Given the description of an element on the screen output the (x, y) to click on. 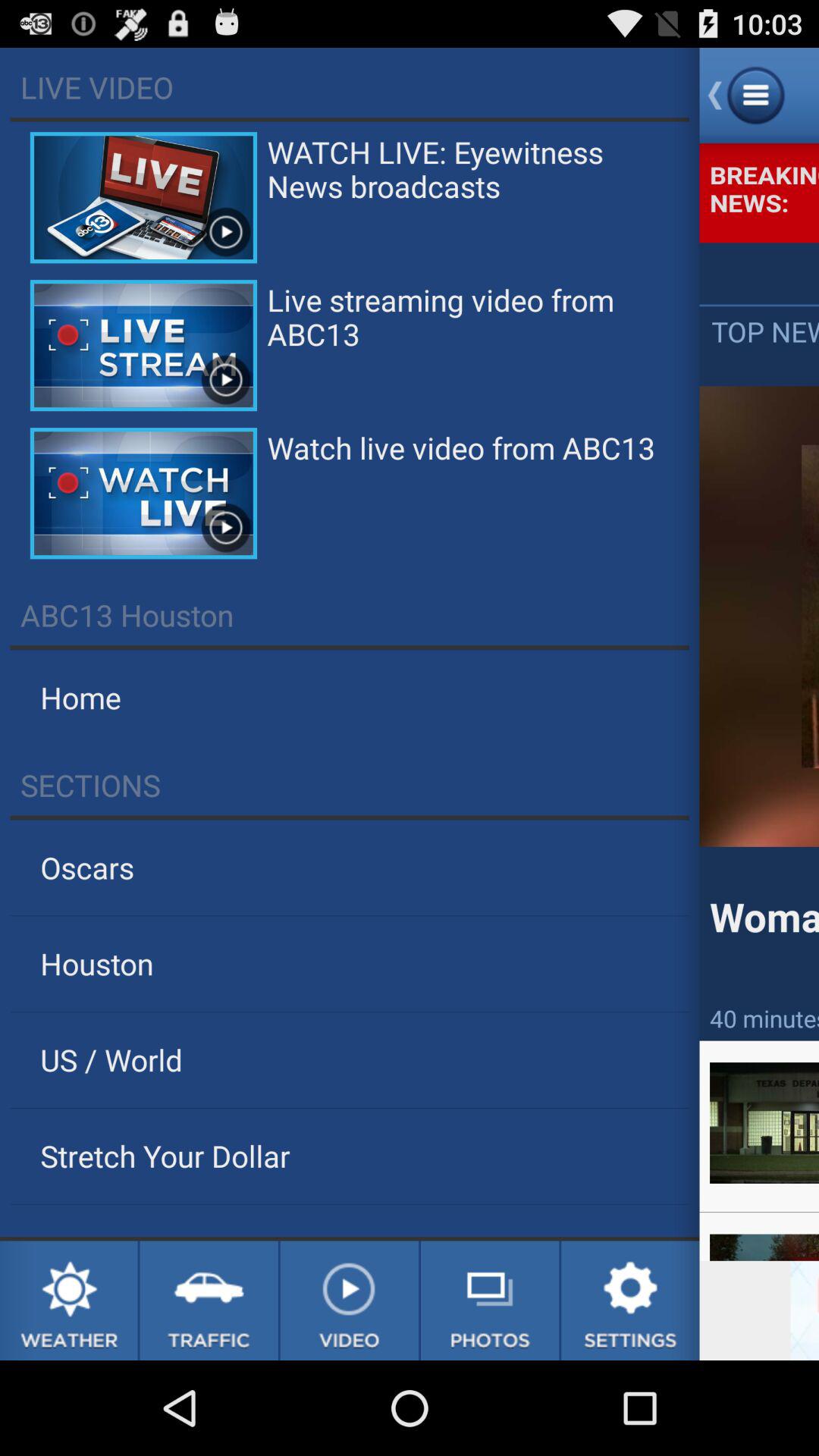
toggle traffic (208, 1300)
